Given the description of an element on the screen output the (x, y) to click on. 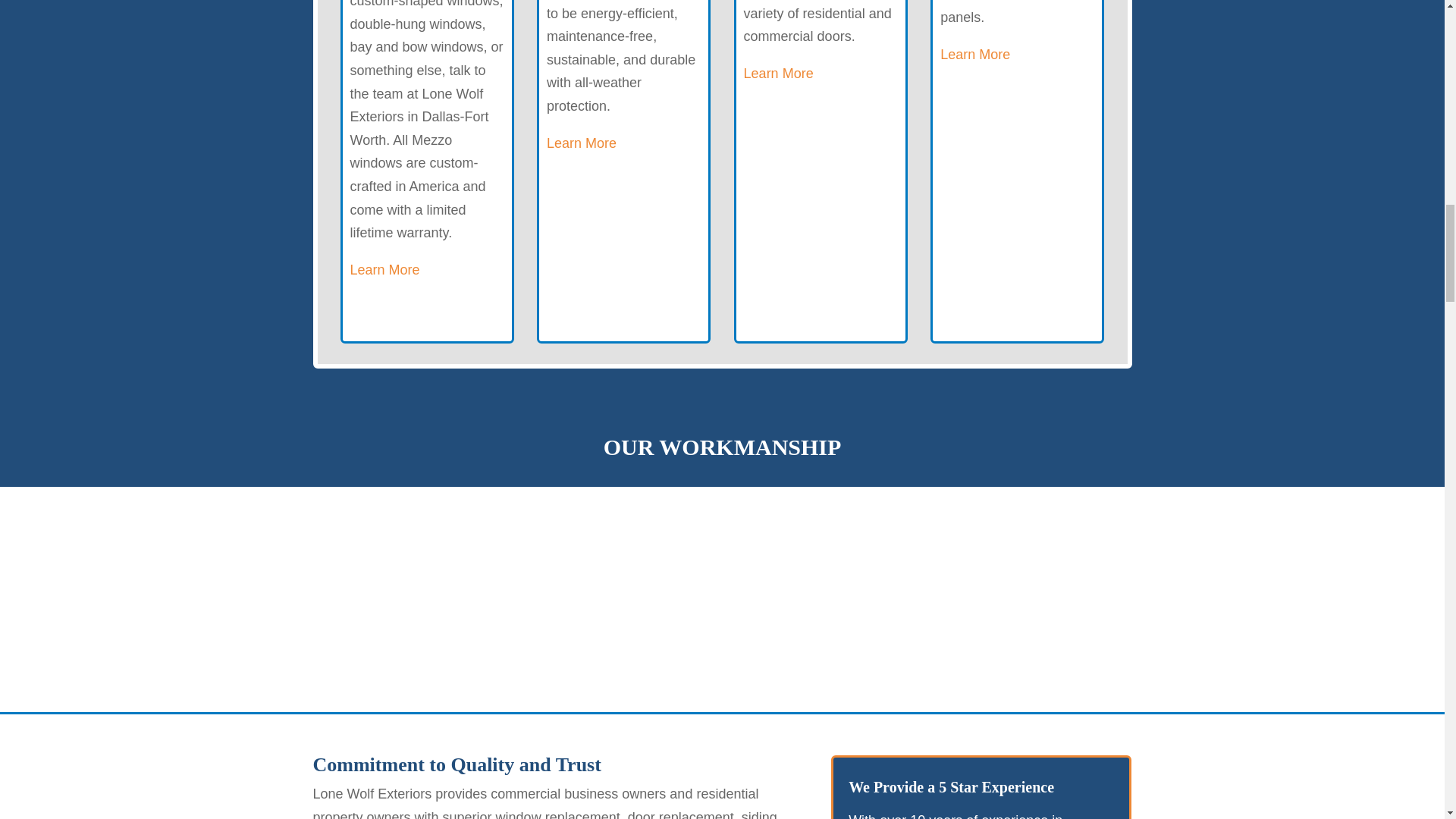
Learn More (385, 269)
Learn More (581, 142)
Learn More (975, 54)
Learn More (778, 73)
